Given the description of an element on the screen output the (x, y) to click on. 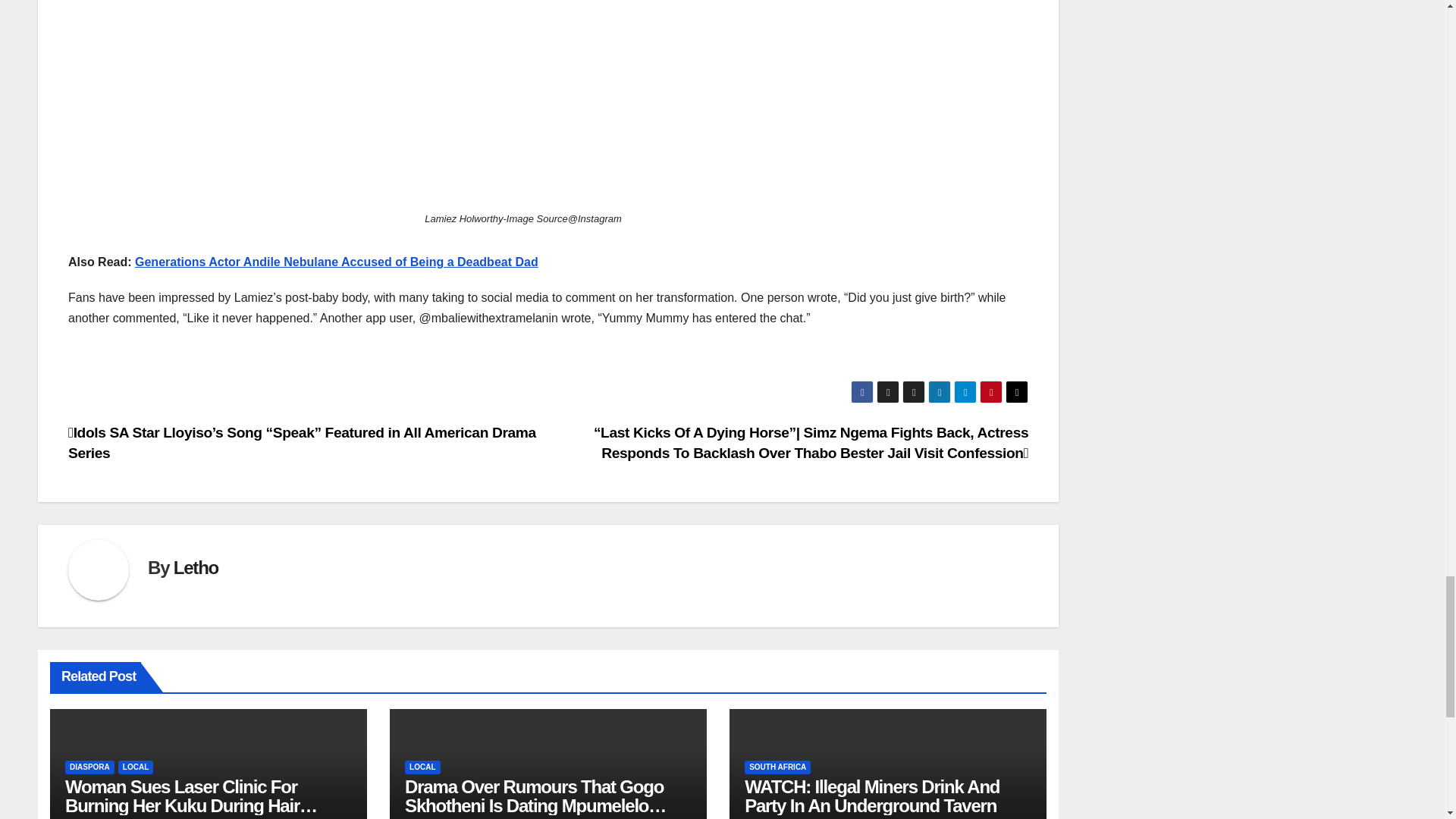
DIASPORA (90, 766)
Letho (195, 567)
LOCAL (134, 766)
